Given the description of an element on the screen output the (x, y) to click on. 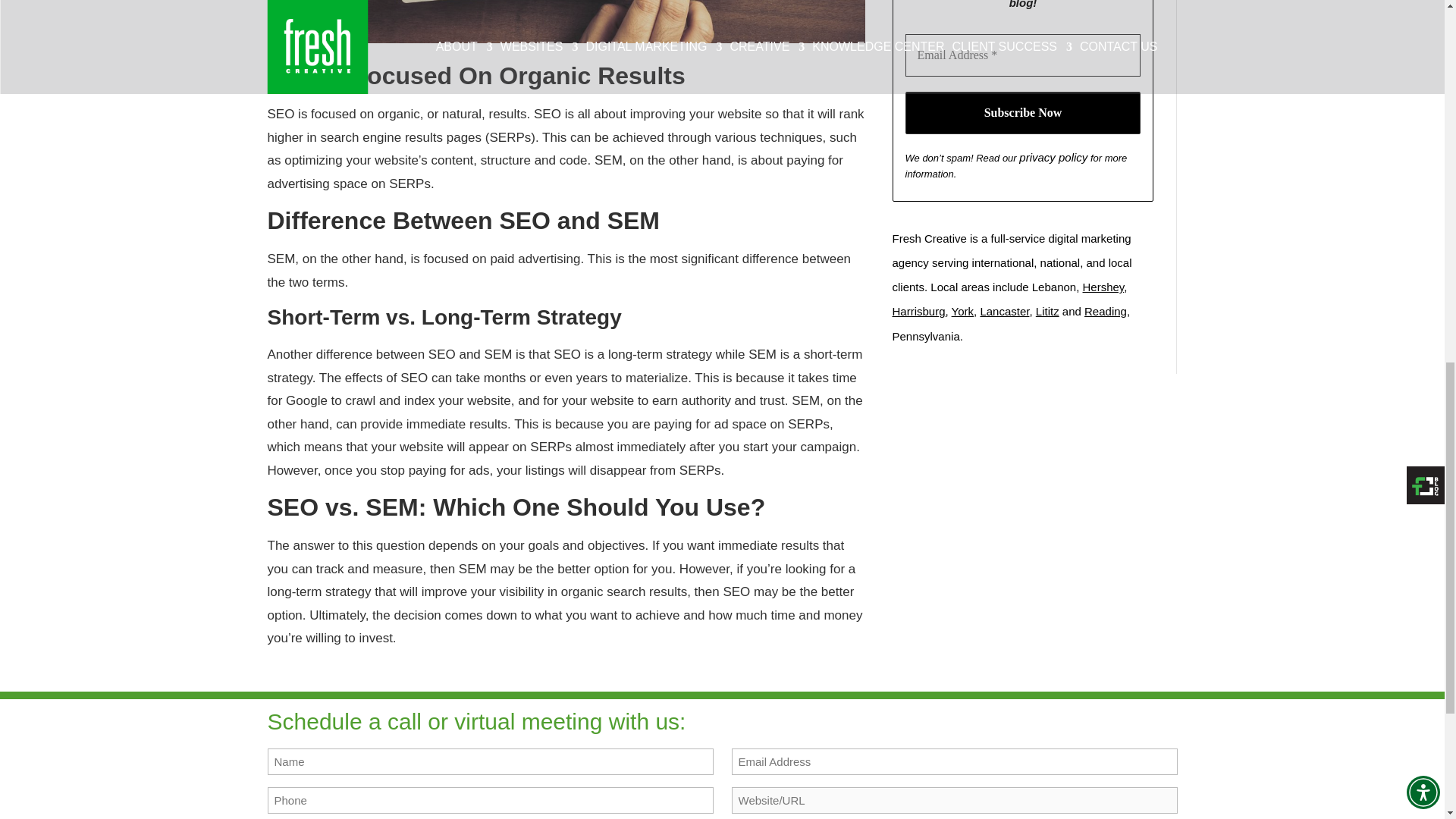
Email Address (1023, 55)
Subscribe Now (1023, 112)
